Given the description of an element on the screen output the (x, y) to click on. 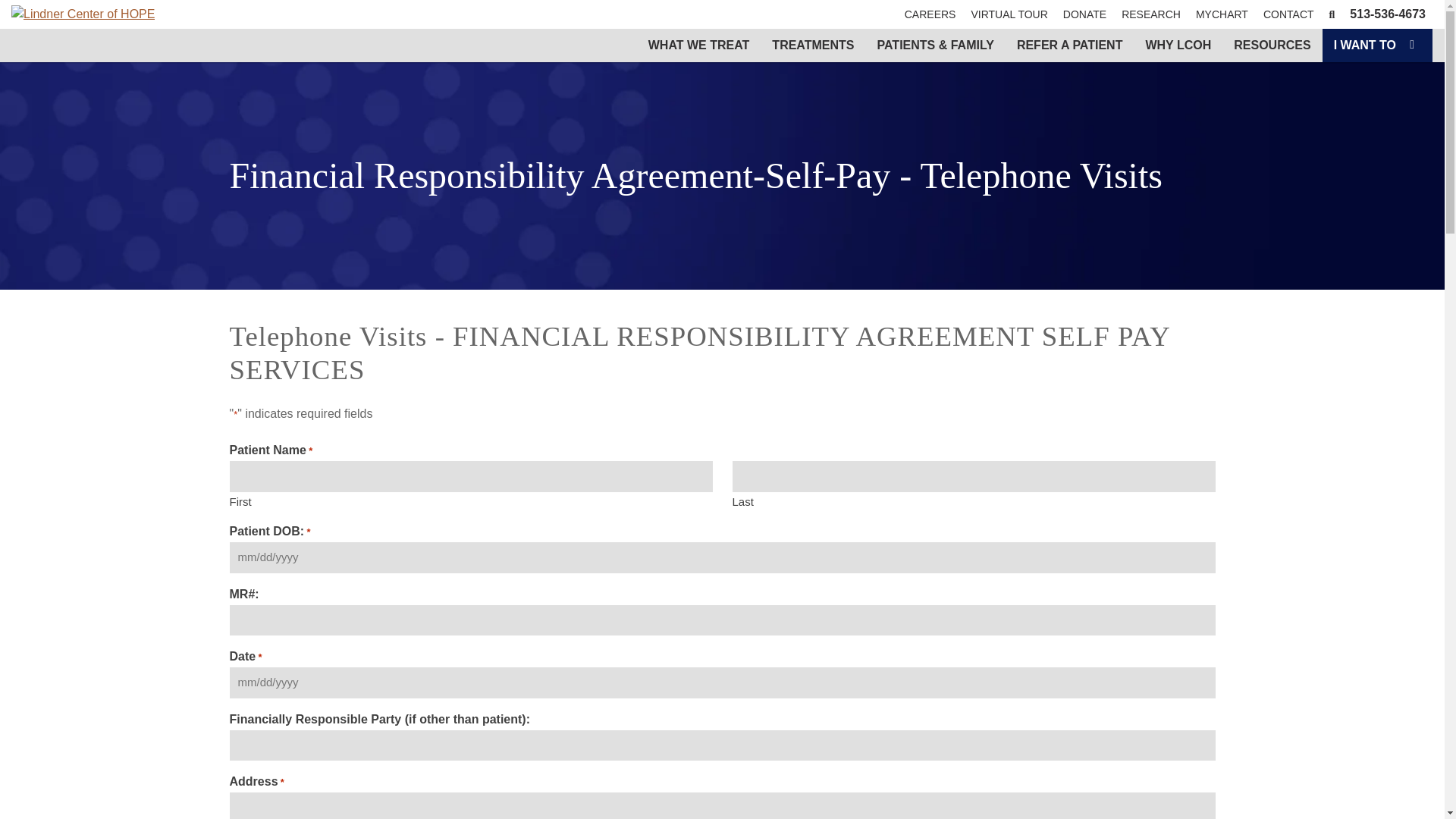
TREATMENTS (812, 45)
513-536-4673 (1387, 13)
SEARCH (1332, 13)
VIRTUAL TOUR (1008, 13)
WHY LCOH (1178, 45)
RESOURCES (1272, 45)
RESEARCH (1150, 13)
REFER A PATIENT (1070, 45)
CAREERS (929, 13)
CONTACT (1288, 13)
